Given the description of an element on the screen output the (x, y) to click on. 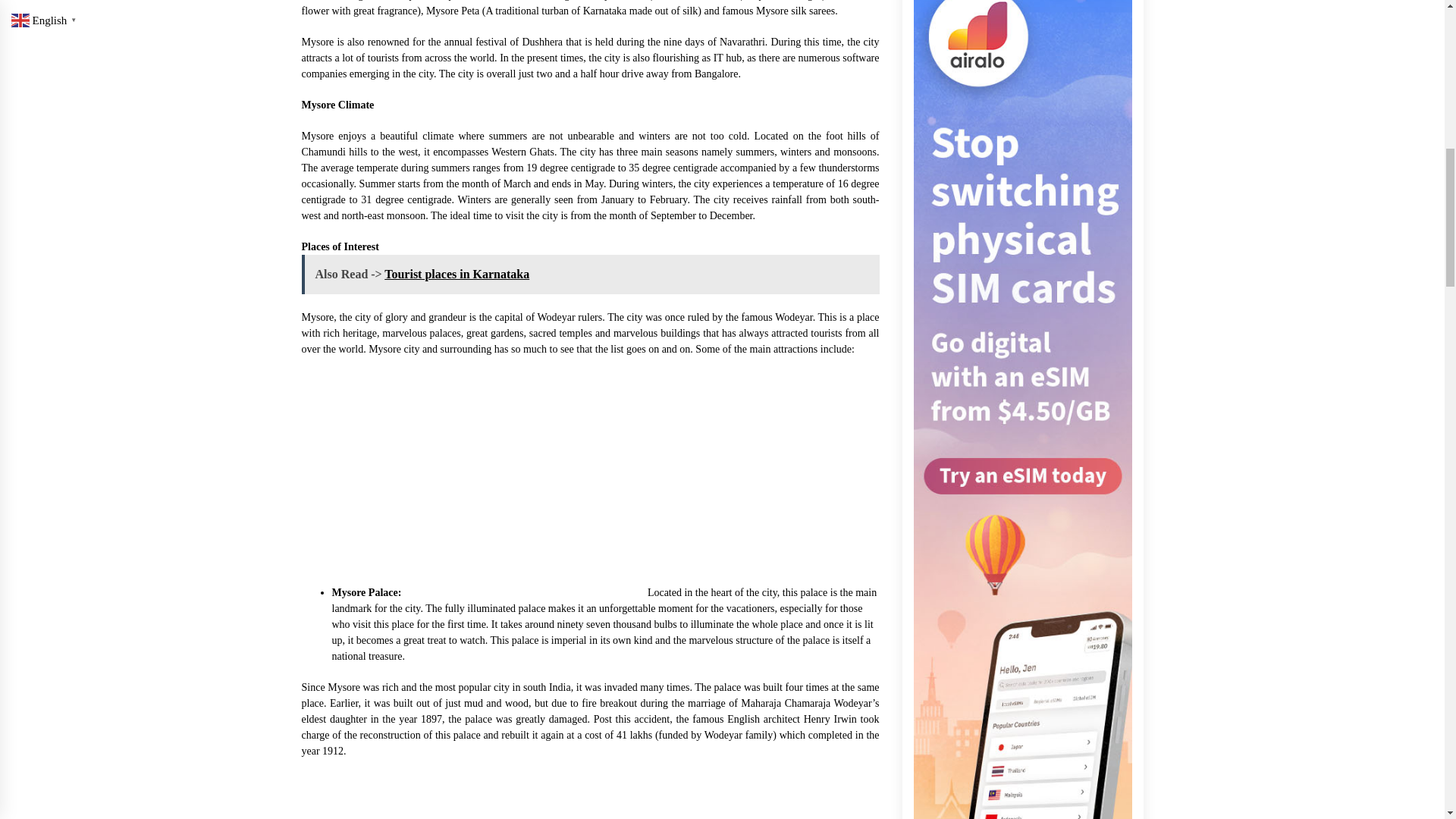
Mysore Palace inside (415, 796)
Mysore Palace (517, 482)
